Given the description of an element on the screen output the (x, y) to click on. 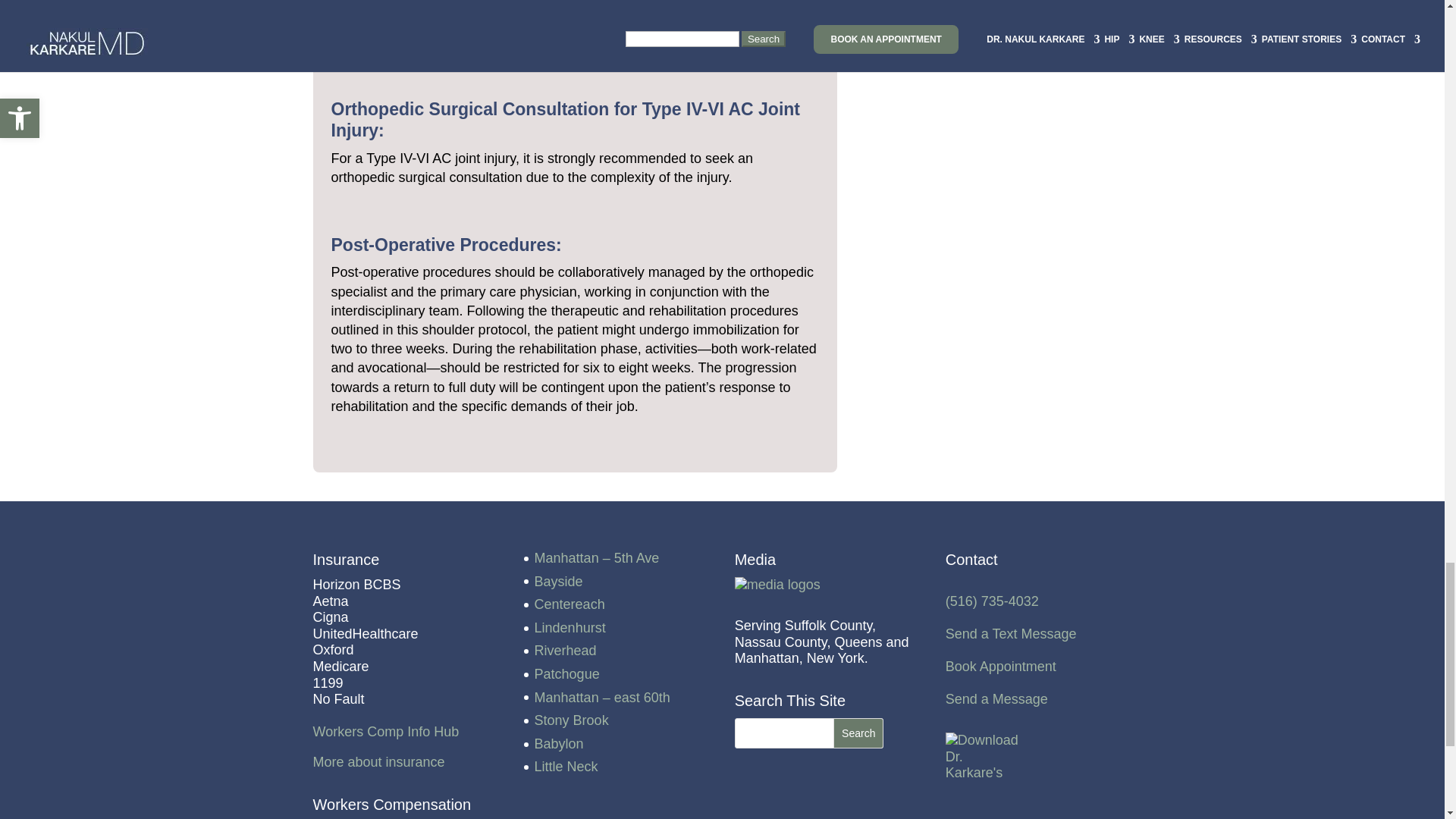
Search (857, 733)
Download Dr. Karkare's vCard at Complete Orthopedics (983, 756)
media logos (778, 585)
